Given the description of an element on the screen output the (x, y) to click on. 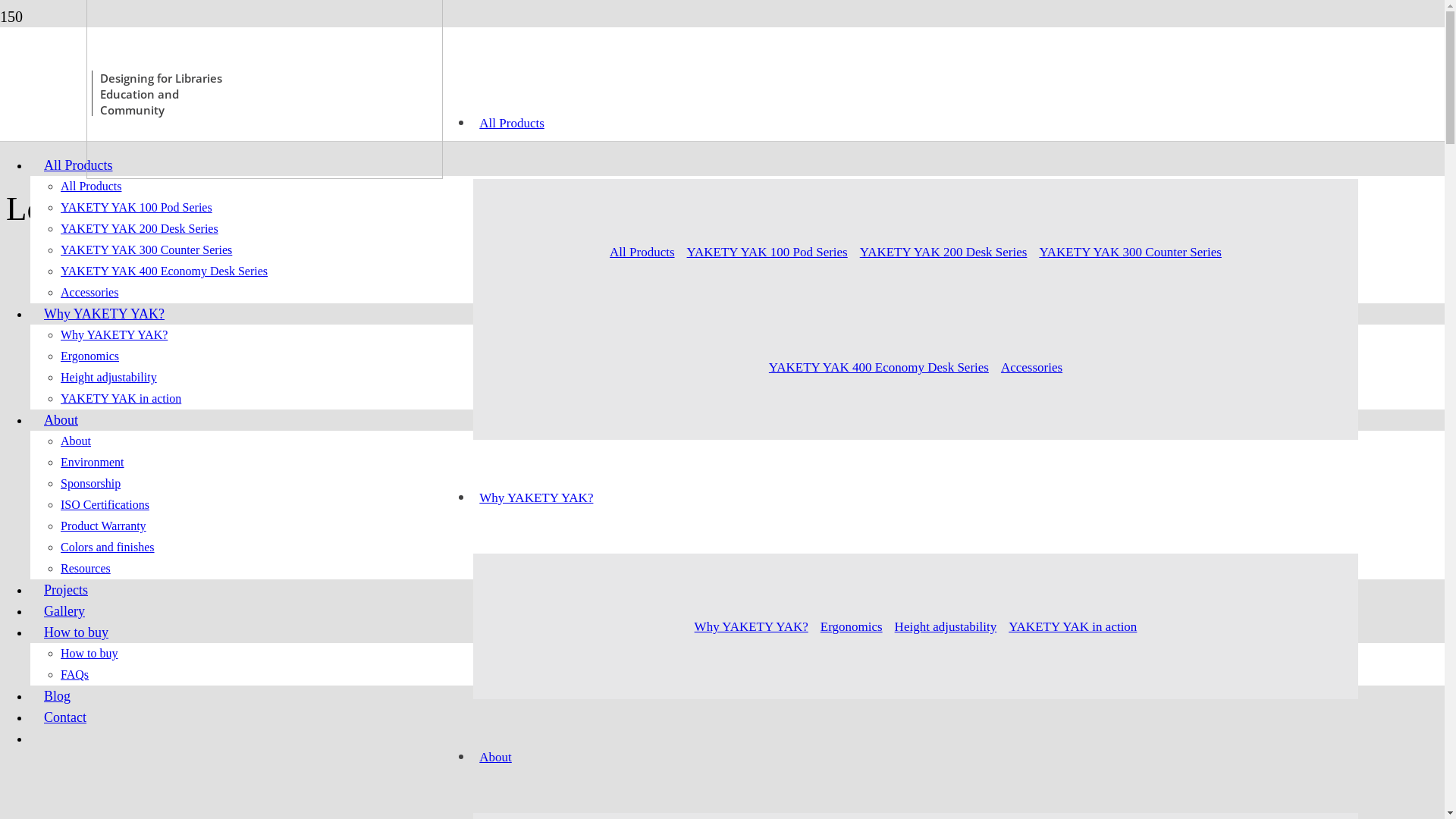
Contact Element type: text (65, 716)
Accessories Element type: text (89, 291)
ISO Certifications Element type: text (104, 504)
About Element type: text (60, 419)
Resources Element type: text (85, 567)
Ergonomics Element type: text (89, 355)
YAKETY YAK 400 Economy Desk Series Element type: text (163, 270)
YAKETY YAK in action Element type: text (1072, 626)
Why YAKETY YAK? Element type: text (536, 497)
YAKETY YAK 400 Economy Desk Series Element type: text (878, 366)
Projects Element type: text (65, 589)
All Products Element type: text (90, 185)
How to buy Element type: text (76, 632)
YAKETY YAK in action Element type: text (120, 398)
About Element type: text (75, 440)
YAKETY YAK 100 Pod Series Element type: text (136, 206)
Why YAKETY YAK? Element type: text (751, 626)
Accessories Element type: text (1031, 366)
Height adjustability Element type: text (108, 376)
Why YAKETY YAK? Element type: text (104, 313)
YAKETY YAK 200 Desk Series Element type: text (139, 228)
Sponsorship Element type: text (90, 482)
Environment Element type: text (92, 461)
YAKETY YAK 100 Pod Series Element type: text (766, 251)
Height adjustability Element type: text (945, 626)
Why YAKETY YAK? Element type: text (113, 334)
Colors and finishes Element type: text (107, 546)
YAKETY YAK 300 Counter Series Element type: text (146, 249)
Blog Element type: text (57, 695)
About Element type: text (495, 756)
Gallery Element type: text (64, 610)
YAKETY YAK 200 Desk Series Element type: text (943, 251)
FAQs Element type: text (74, 674)
YAKETY YAK 300 Counter Series Element type: text (1129, 251)
Ergonomics Element type: text (851, 626)
All Products Element type: text (511, 122)
Product Warranty Element type: text (103, 525)
How to buy Element type: text (89, 652)
All Products Element type: text (641, 251)
All Products Element type: text (78, 164)
